Given the description of an element on the screen output the (x, y) to click on. 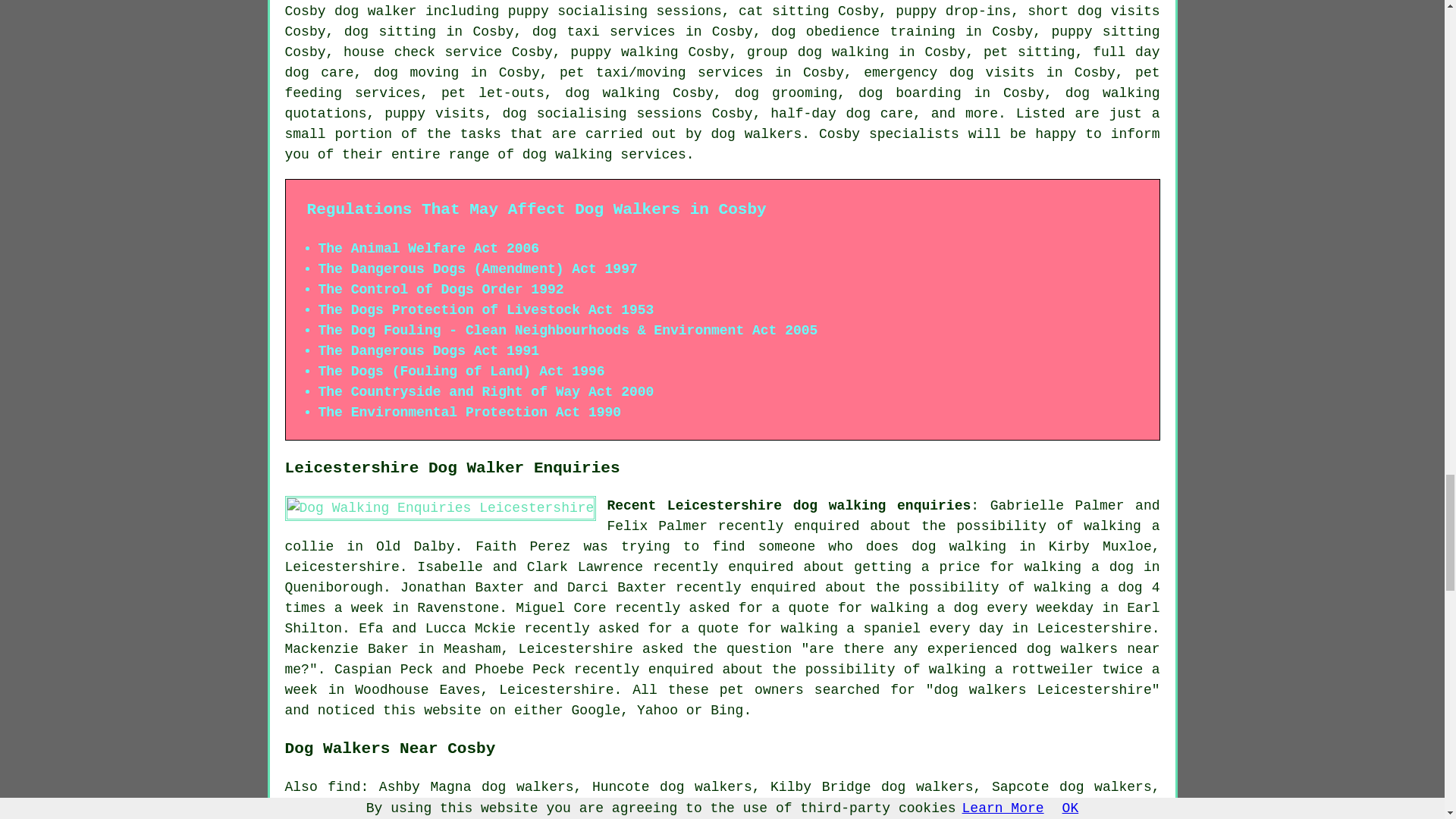
Leicestershire Dog Walking Enquiries (440, 508)
dog walking in (973, 546)
dog sitting (389, 31)
dog walkers near me (722, 659)
